Given the description of an element on the screen output the (x, y) to click on. 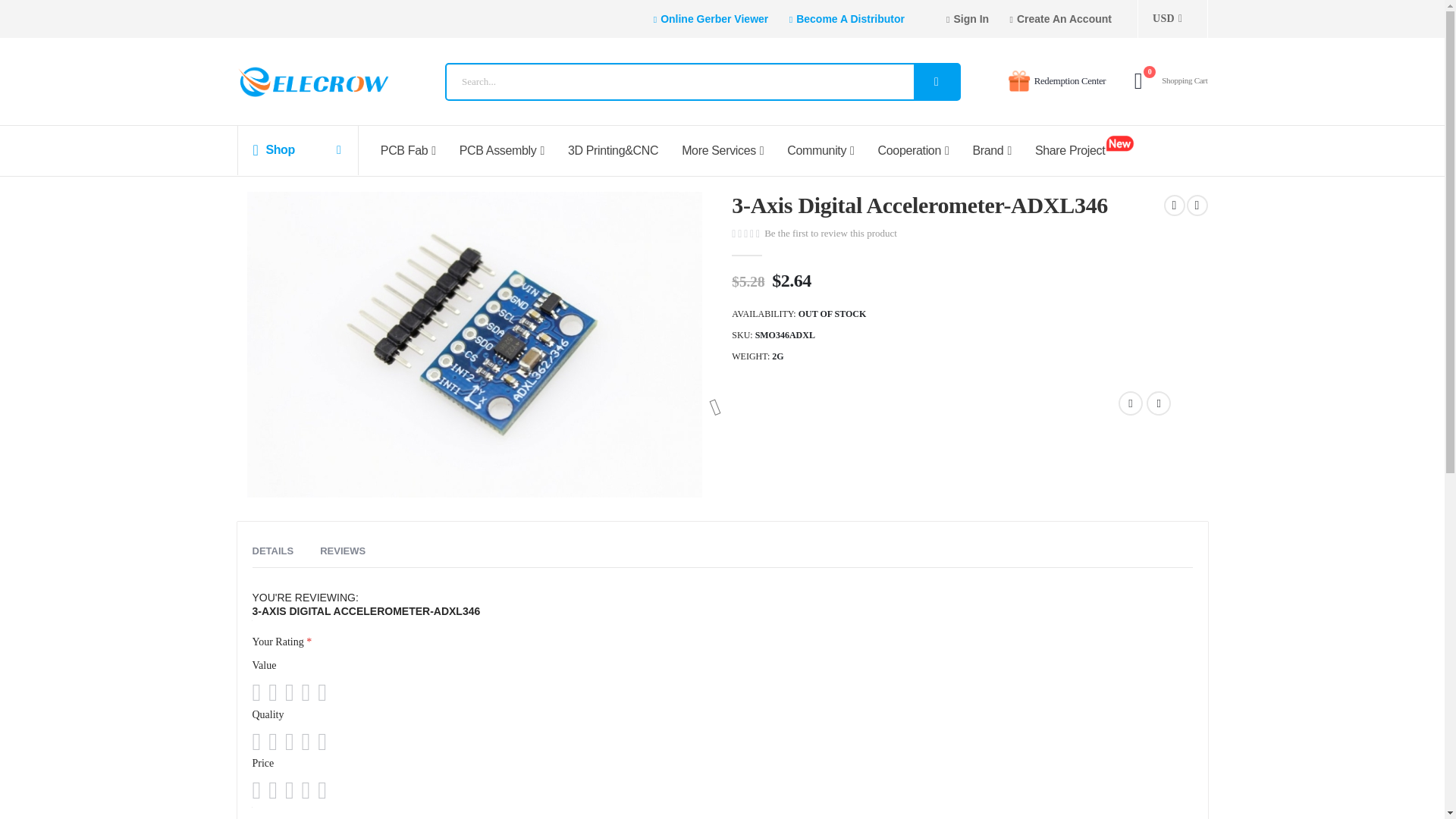
Search (936, 81)
15 (1138, 80)
6 (846, 19)
3 (1061, 18)
